Given the description of an element on the screen output the (x, y) to click on. 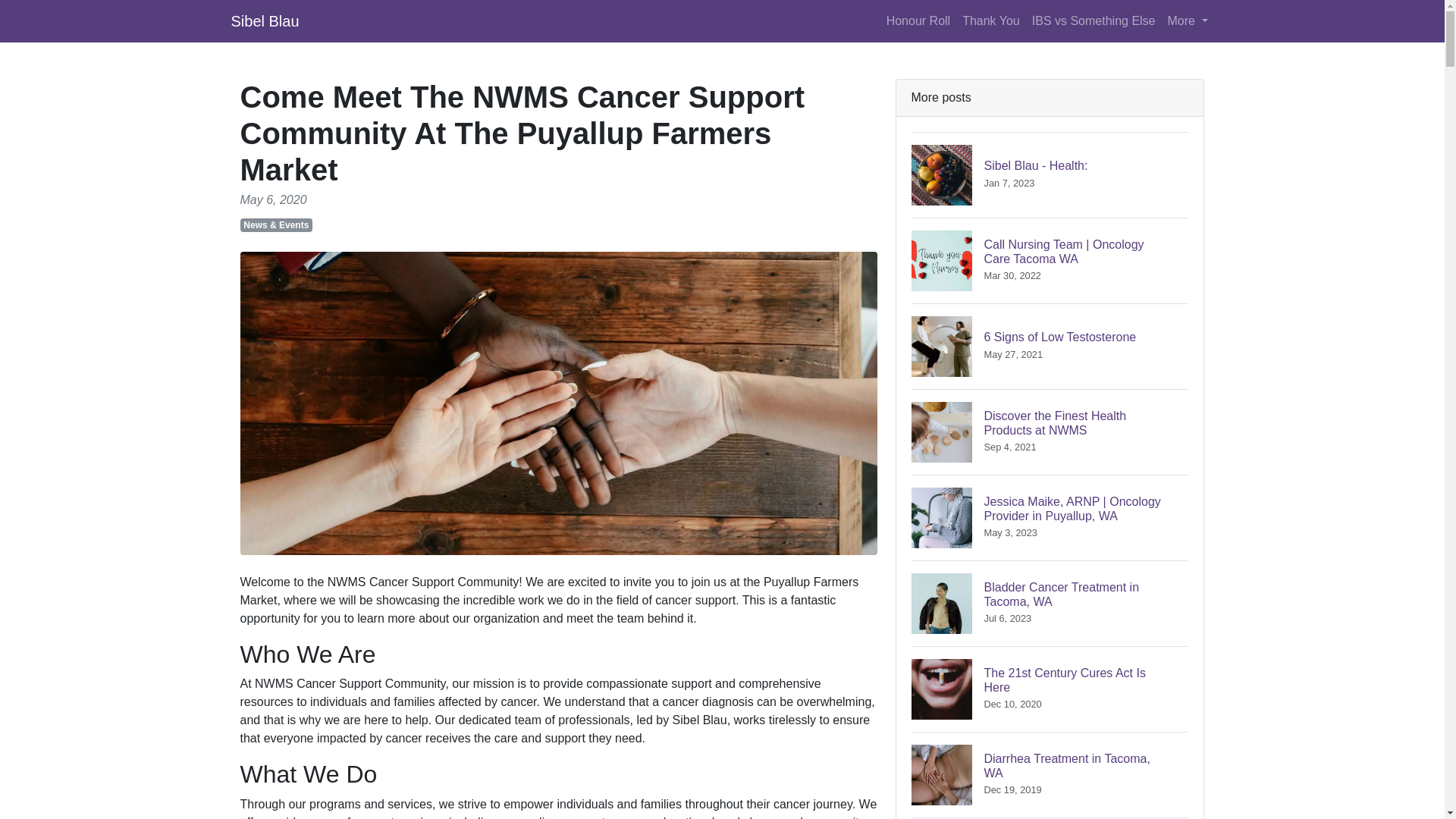
Sibel Blau (264, 20)
More (1050, 432)
IBS vs Something Else (1050, 346)
Honour Roll (1050, 689)
